Given the description of an element on the screen output the (x, y) to click on. 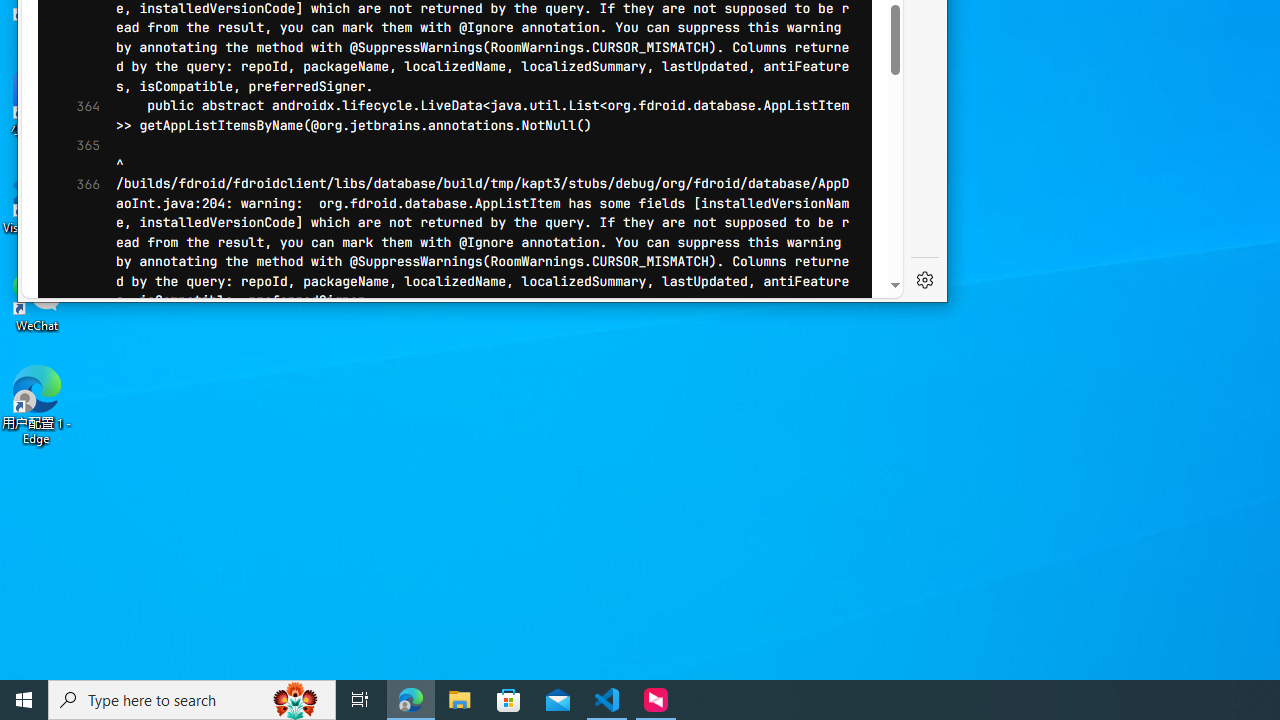
Type here to search (191, 699)
File Explorer (460, 699)
364 (82, 115)
Microsoft Edge - 1 running window (411, 699)
Visual Studio Code - 1 running window (607, 699)
Search highlights icon opens search home window (295, 699)
Start (24, 699)
366 (82, 242)
365 (82, 154)
Microsoft Store (509, 699)
Task View (359, 699)
